Given the description of an element on the screen output the (x, y) to click on. 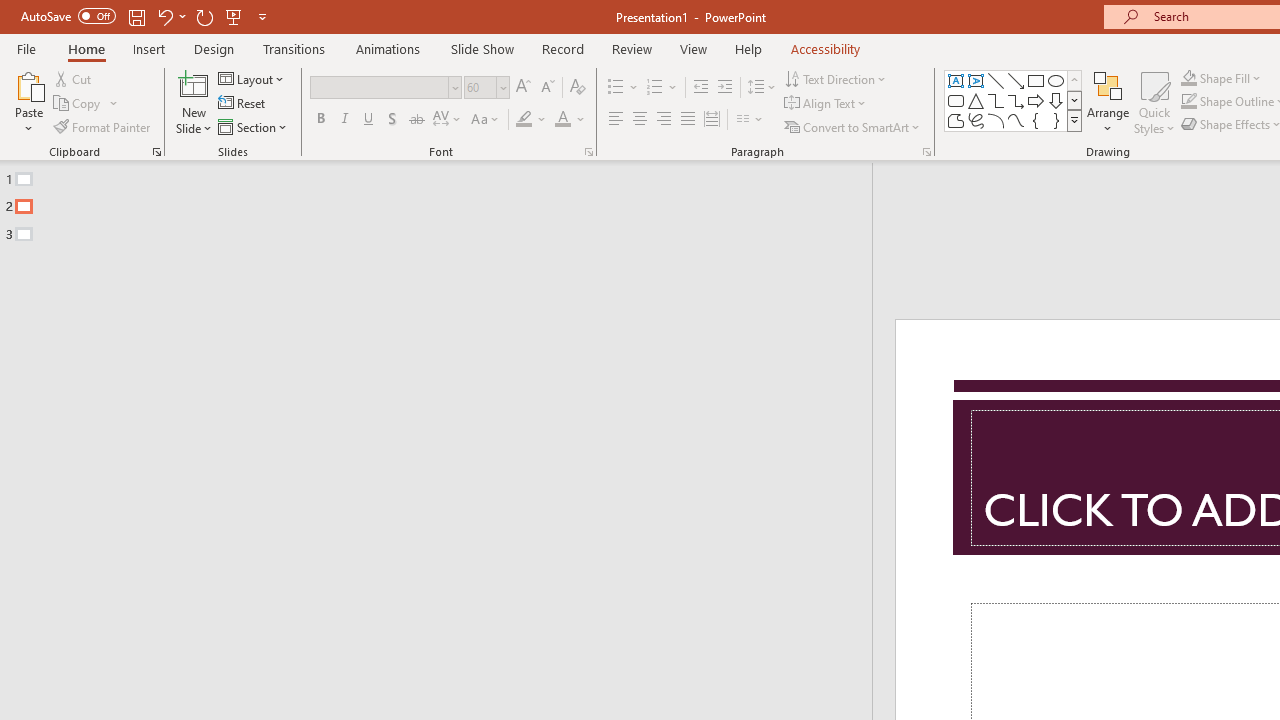
Shape Outline Blue, Accent 1 (1188, 101)
